Given the description of an element on the screen output the (x, y) to click on. 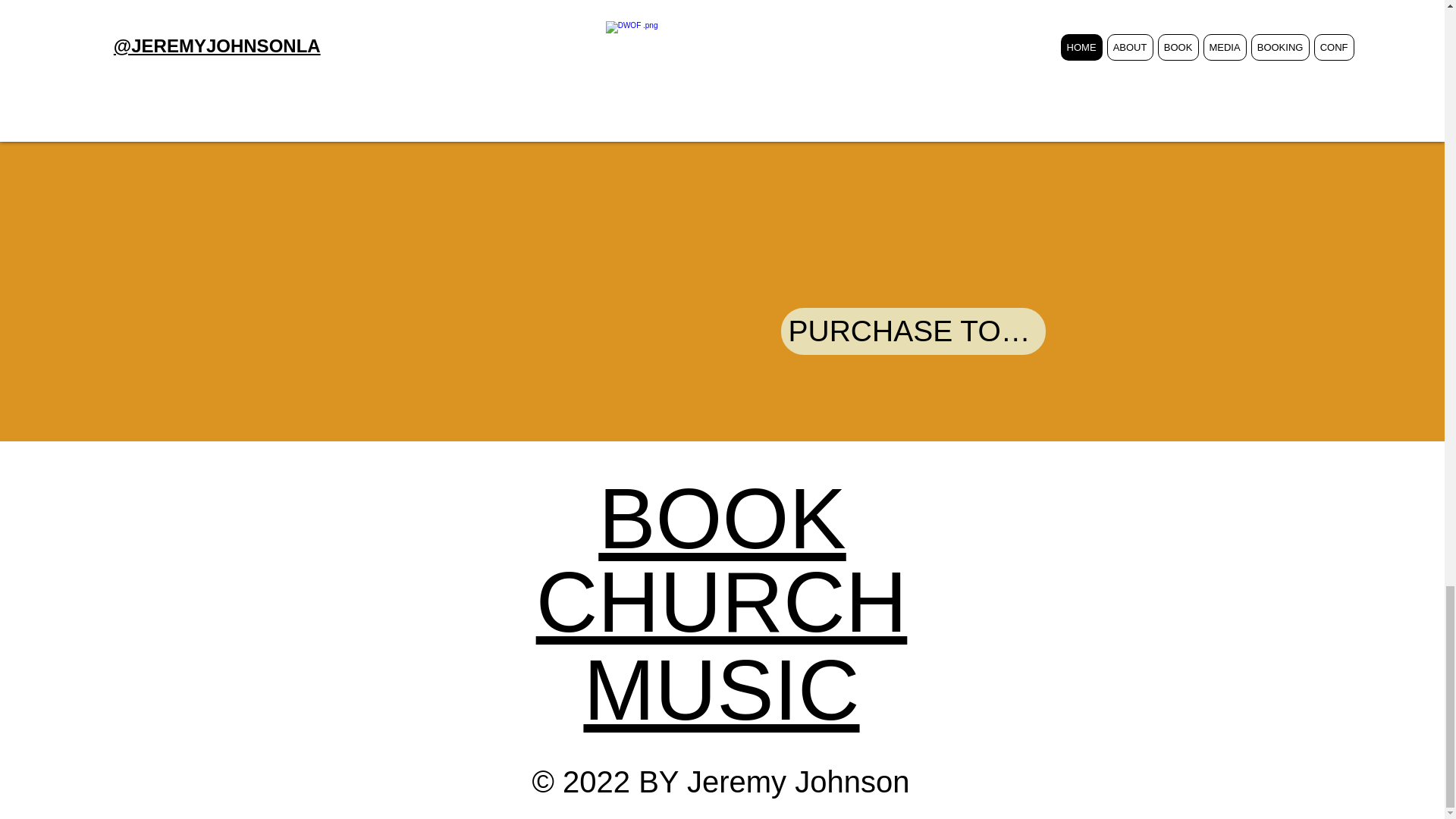
PURCHASE TODAY (912, 330)
MUSIC (721, 689)
CHURCH (721, 602)
BOOK (721, 518)
